Given the description of an element on the screen output the (x, y) to click on. 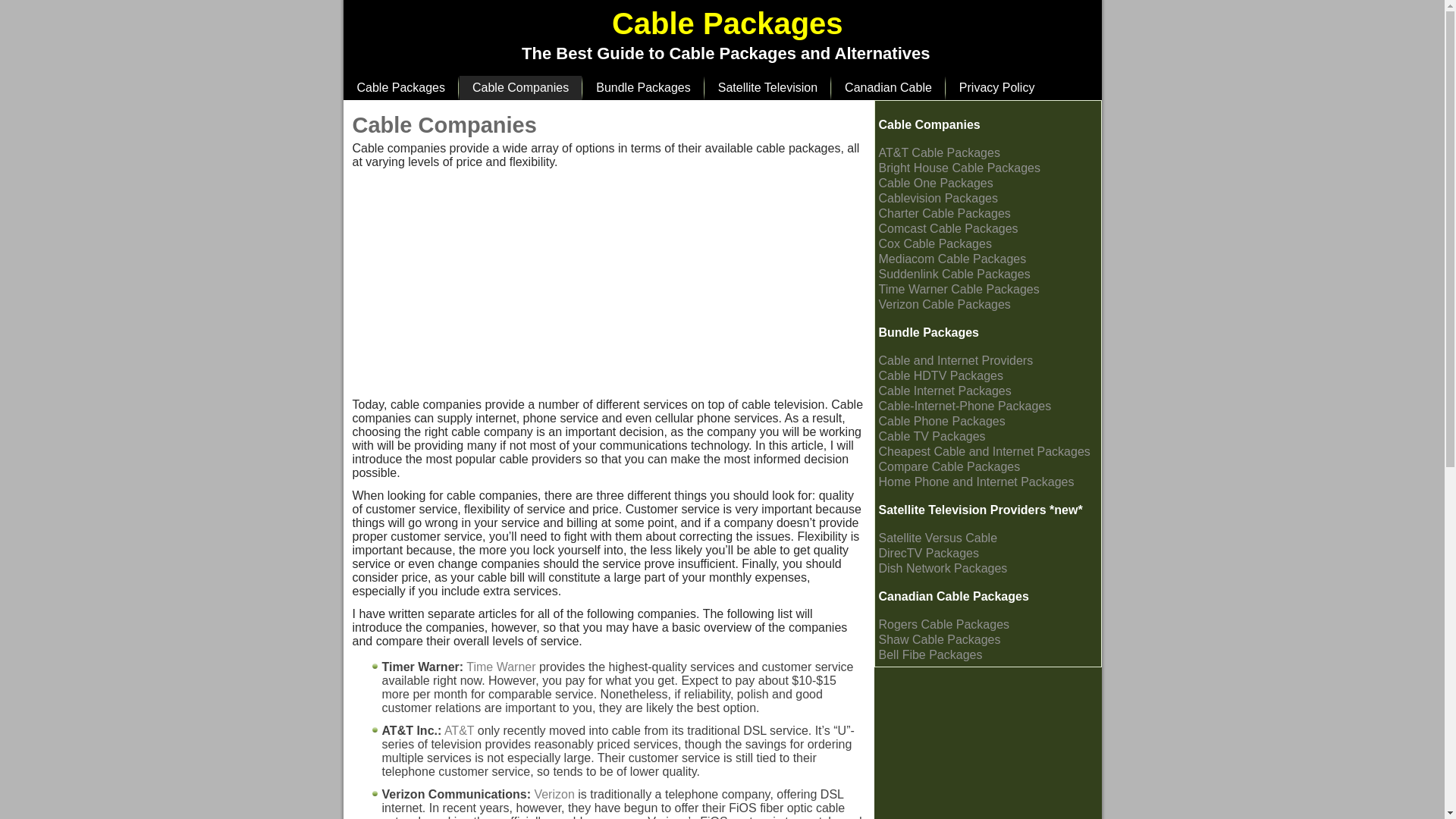
Cable Packages (727, 23)
Time Warner Cable Packages (958, 288)
Time Warner (500, 666)
Cable One Packages (934, 182)
Advertisement (465, 290)
Cable-Internet-Phone Packages (964, 405)
Satellite Television (766, 87)
Suddenlink Cable Packages (953, 273)
Cable Companies (520, 87)
Cable Packages (400, 87)
Bundle Packages (927, 332)
Advertisement (696, 290)
Cable Packages (400, 87)
Bright House Cable Packages (958, 167)
Cable HDTV Packages (940, 375)
